Given the description of an element on the screen output the (x, y) to click on. 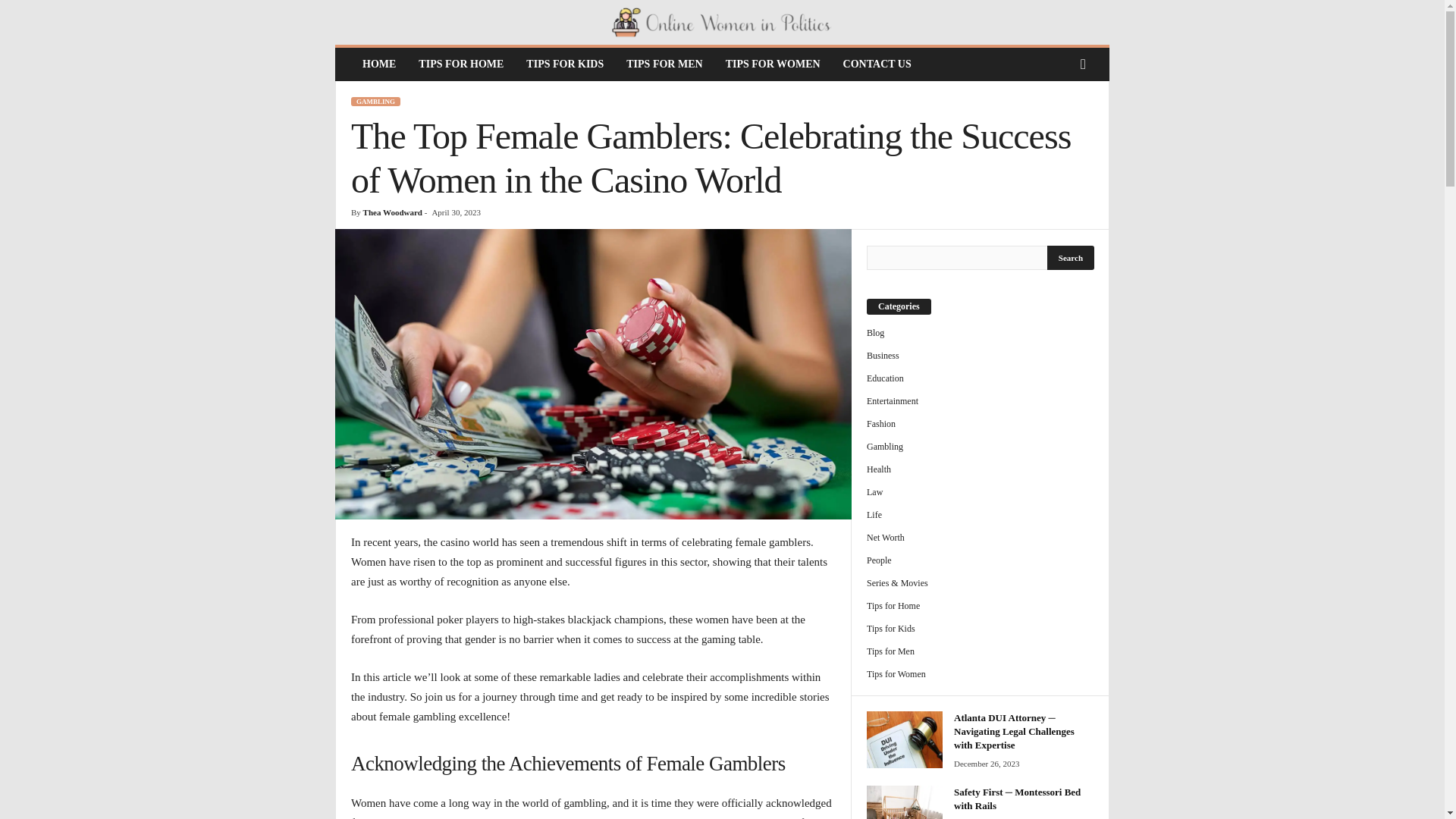
TIPS FOR MEN (663, 64)
TIPS FOR WOMEN (772, 64)
TIPS FOR HOME (461, 64)
GAMBLING (375, 101)
Online Women in Politics (721, 22)
HOME (378, 64)
Thea Woodward (392, 212)
CONTACT US (877, 64)
TIPS FOR KIDS (564, 64)
